Given the description of an element on the screen output the (x, y) to click on. 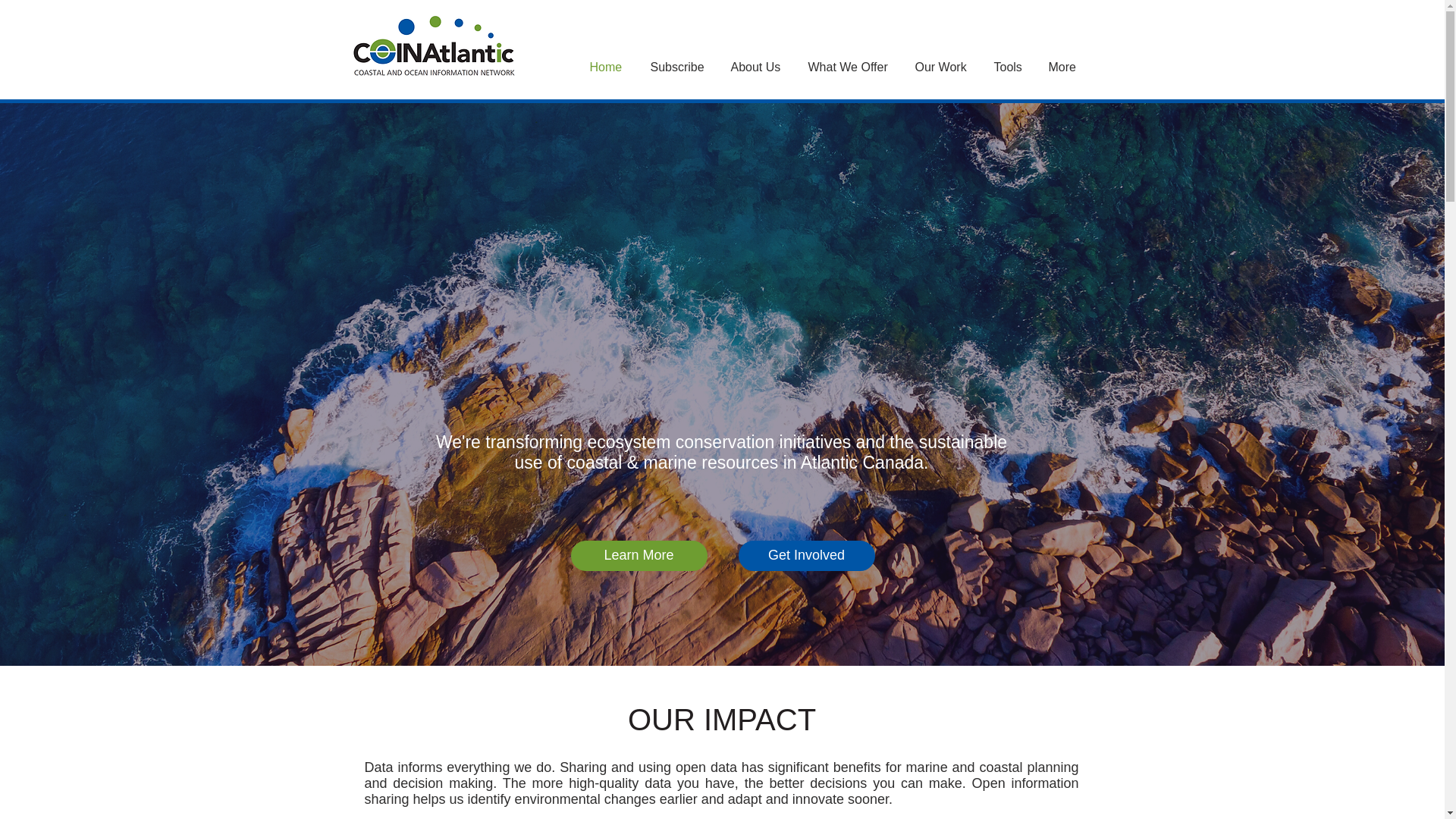
What We Offer (849, 66)
Tools (1009, 66)
Home (608, 66)
Learn More (638, 555)
About Us (757, 66)
Get Involved (806, 555)
Subscribe (679, 66)
Our Work (943, 66)
